Given the description of an element on the screen output the (x, y) to click on. 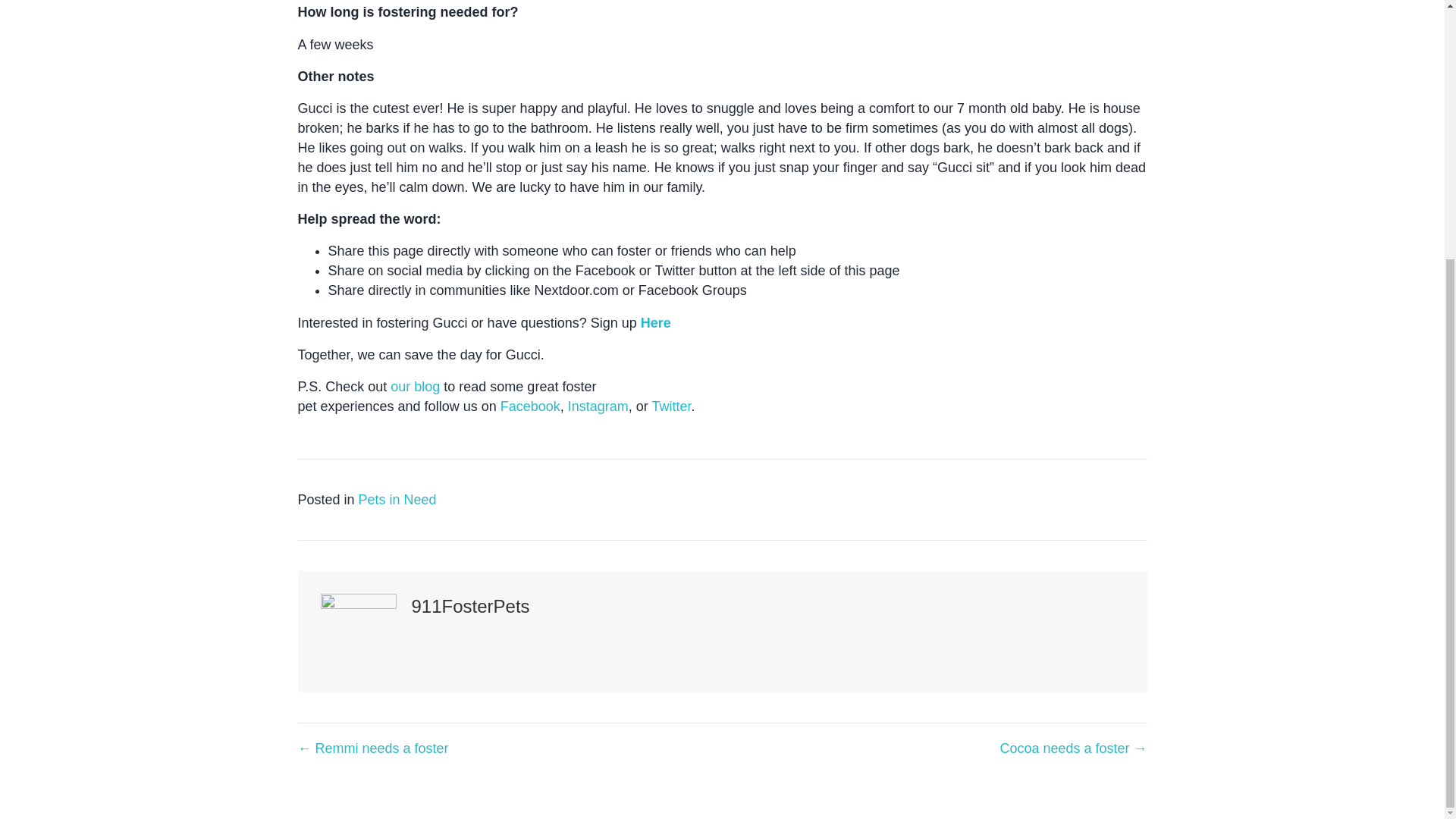
Twitter (670, 406)
Instagram (597, 406)
Facebook (530, 406)
Gucci's story (655, 322)
Here (655, 322)
Instagram (597, 406)
our blog (414, 386)
Pets in Need (397, 499)
Twitter (670, 406)
Facebook (530, 406)
our blog (414, 386)
